Given the description of an element on the screen output the (x, y) to click on. 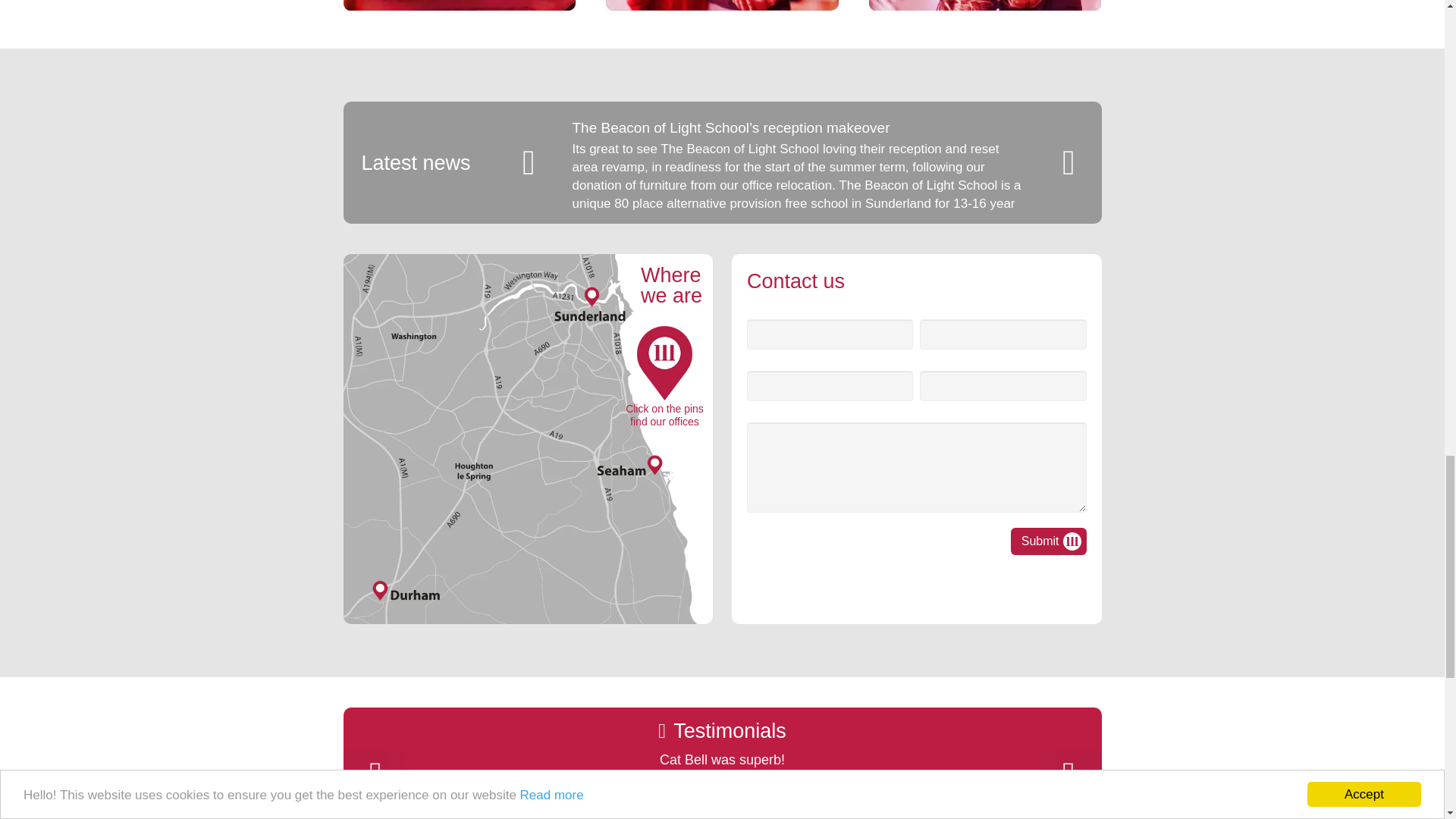
Family Law (458, 14)
Our People (985, 14)
Click to see office details (527, 323)
Residential Conveyancing (721, 14)
Click to see office details (527, 462)
Click to see office details (527, 577)
